Given the description of an element on the screen output the (x, y) to click on. 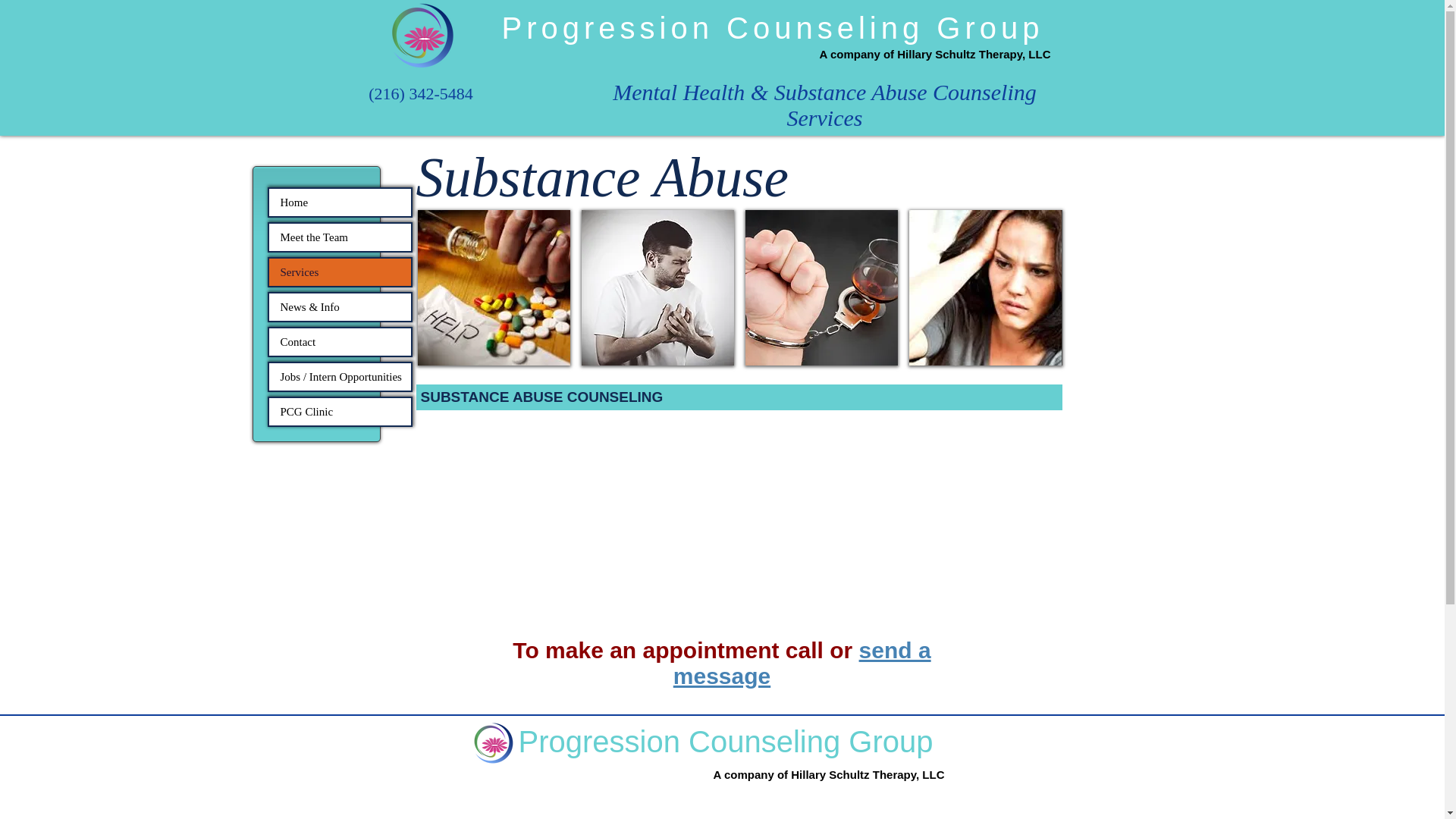
Contact (338, 341)
Home (338, 202)
send a message (801, 663)
Meet the Team (338, 236)
